Given the description of an element on the screen output the (x, y) to click on. 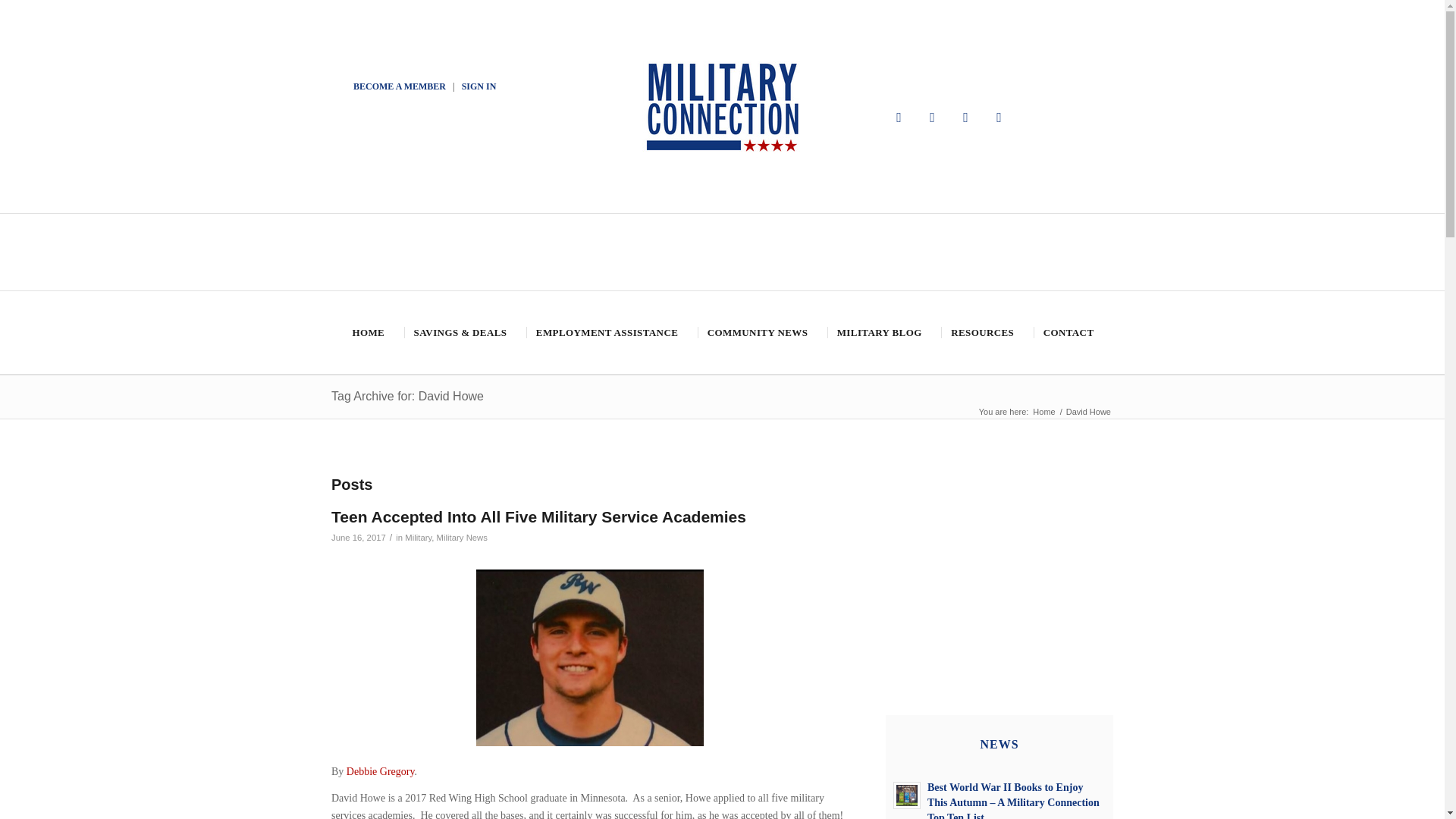
BECOME A MEMBER (399, 86)
HOME (366, 332)
Home (1043, 411)
Teen Accepted Into All Five Military Service Academies (538, 516)
Facebook (899, 117)
Tag Archive for: David Howe (407, 395)
SIGN IN (478, 86)
EMPLOYMENT ASSISTANCE (605, 332)
3rd party ad content (999, 552)
Permanent Link: Tag Archive for: David Howe (407, 395)
COMMUNITY NEWS (756, 332)
Pinterest (965, 117)
Debbie Gregory (380, 771)
RESOURCES (981, 332)
